Given the description of an element on the screen output the (x, y) to click on. 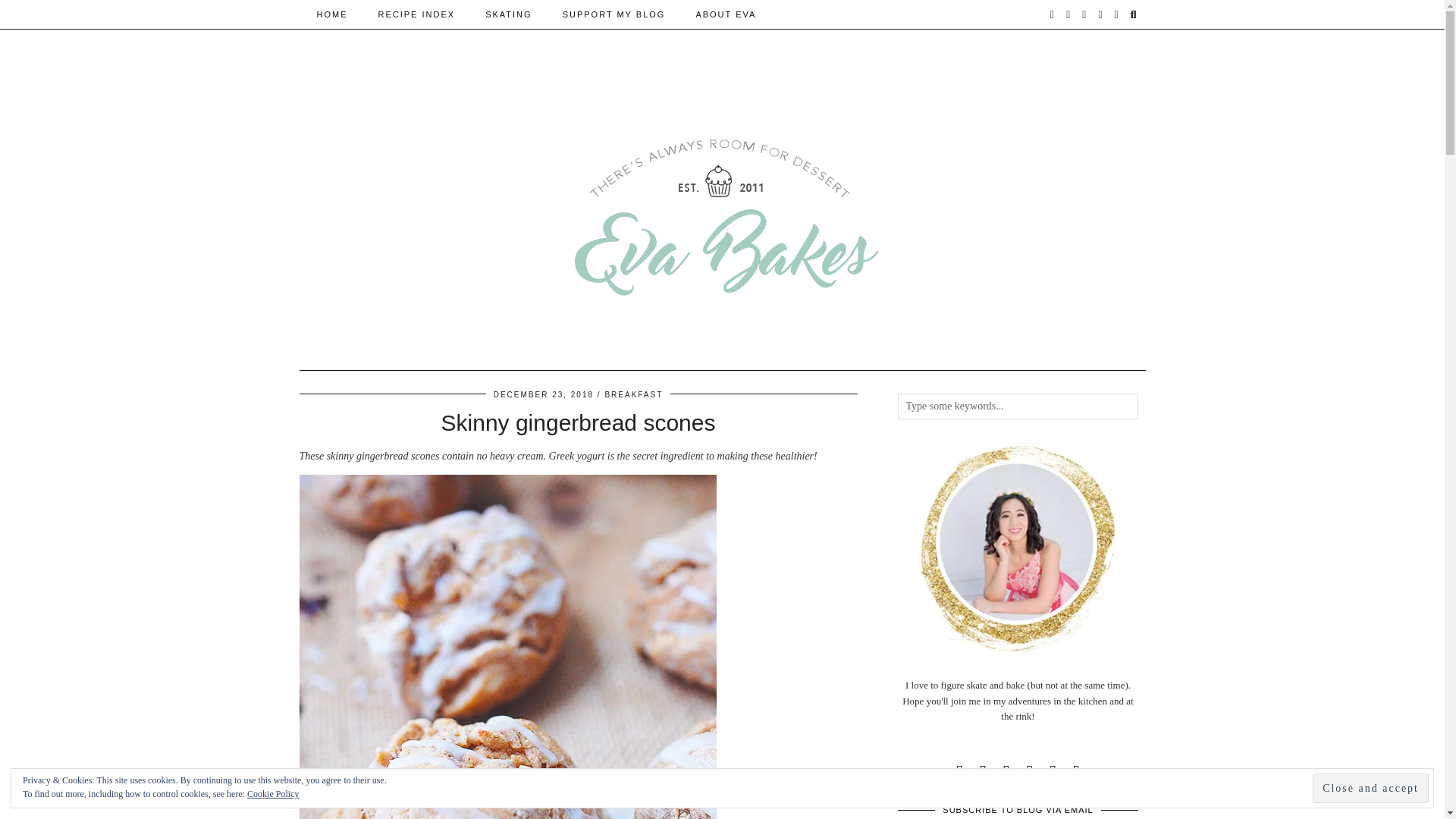
Close and accept (1370, 788)
